Given the description of an element on the screen output the (x, y) to click on. 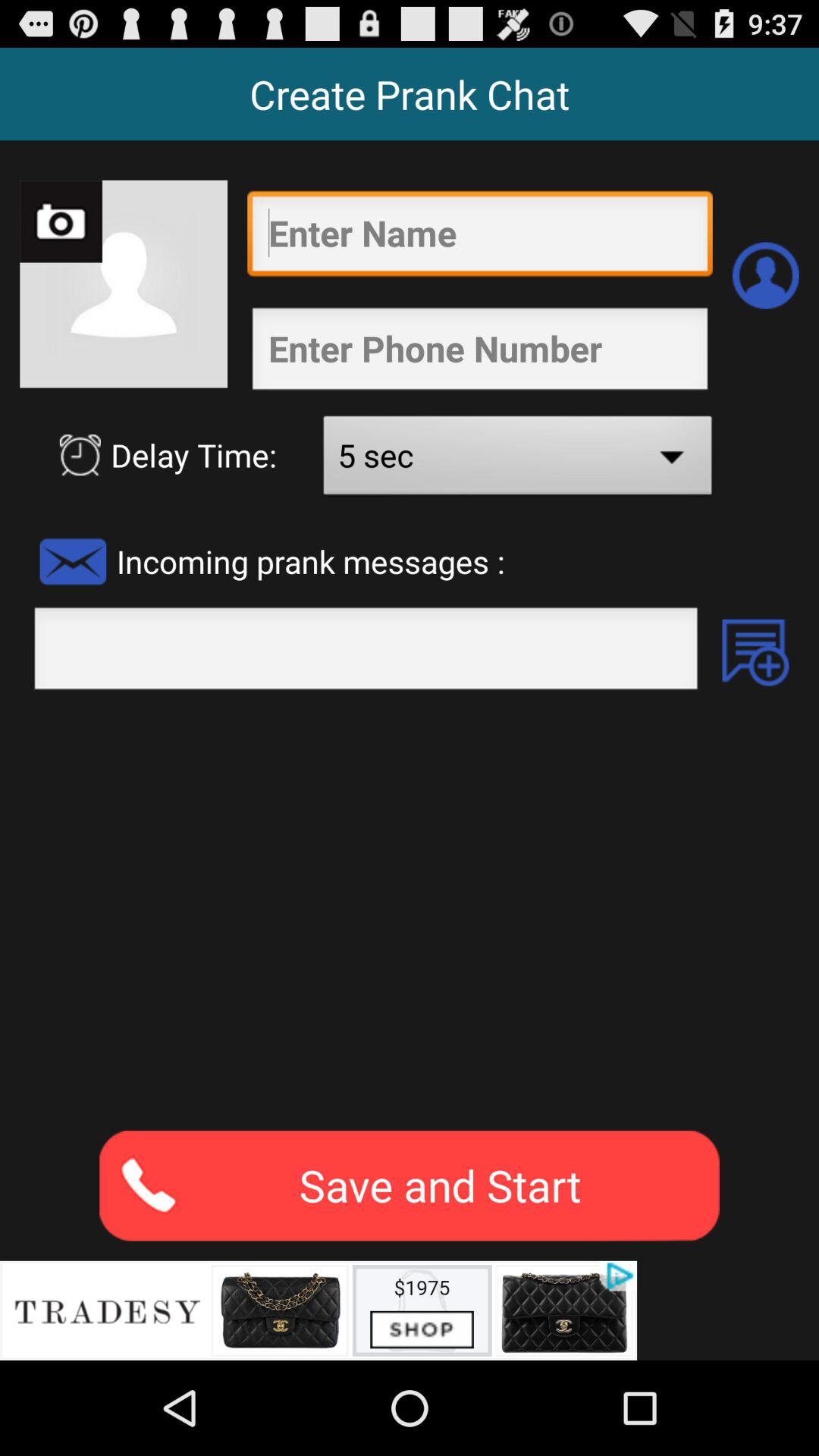
click to contact profile option (765, 275)
